Given the description of an element on the screen output the (x, y) to click on. 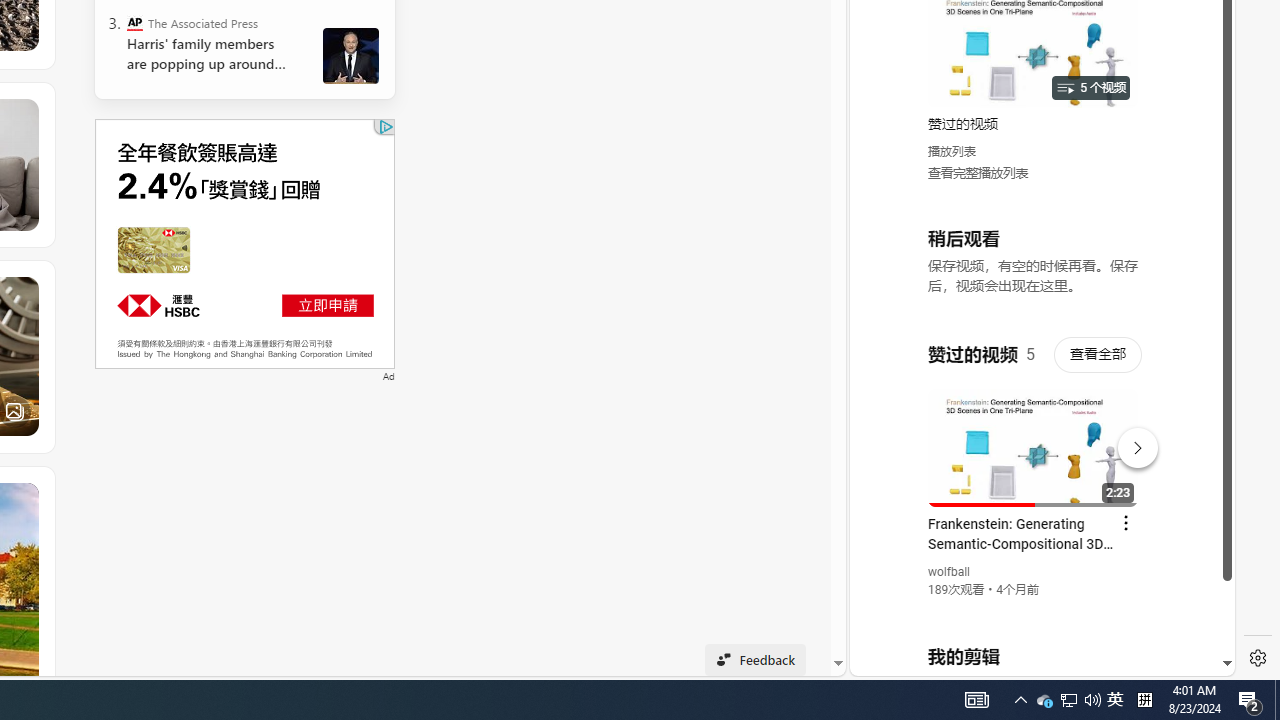
Click to scroll right (1196, 83)
Class: qc-adchoices-icon (386, 126)
YouTube - YouTube (1034, 266)
Global web icon (888, 432)
AutomationID: canvas (244, 243)
